Given the description of an element on the screen output the (x, y) to click on. 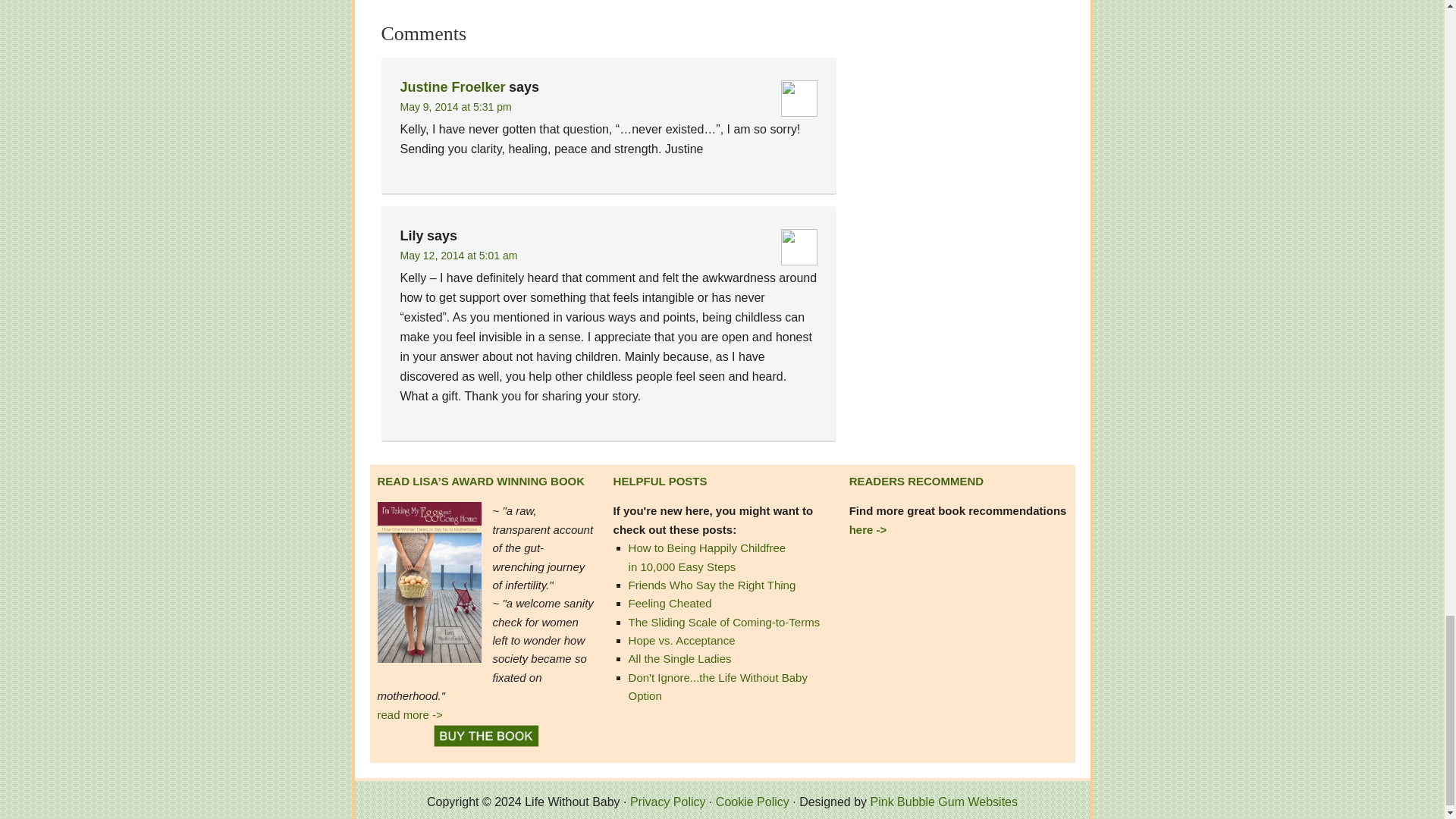
How to be Happily Childfree in 10,000 Easy Steps (707, 556)
Hope vs. Acceptance (681, 640)
May 12, 2014 at 5:01 am (459, 255)
Friends Who Said the Right Thing (712, 584)
Justine Froelker (452, 87)
Pink Bubble Gum Websites (943, 801)
May 9, 2014 at 5:31 pm (456, 106)
The Sliding Scale of Coming-to-Terms (724, 621)
